Given the description of an element on the screen output the (x, y) to click on. 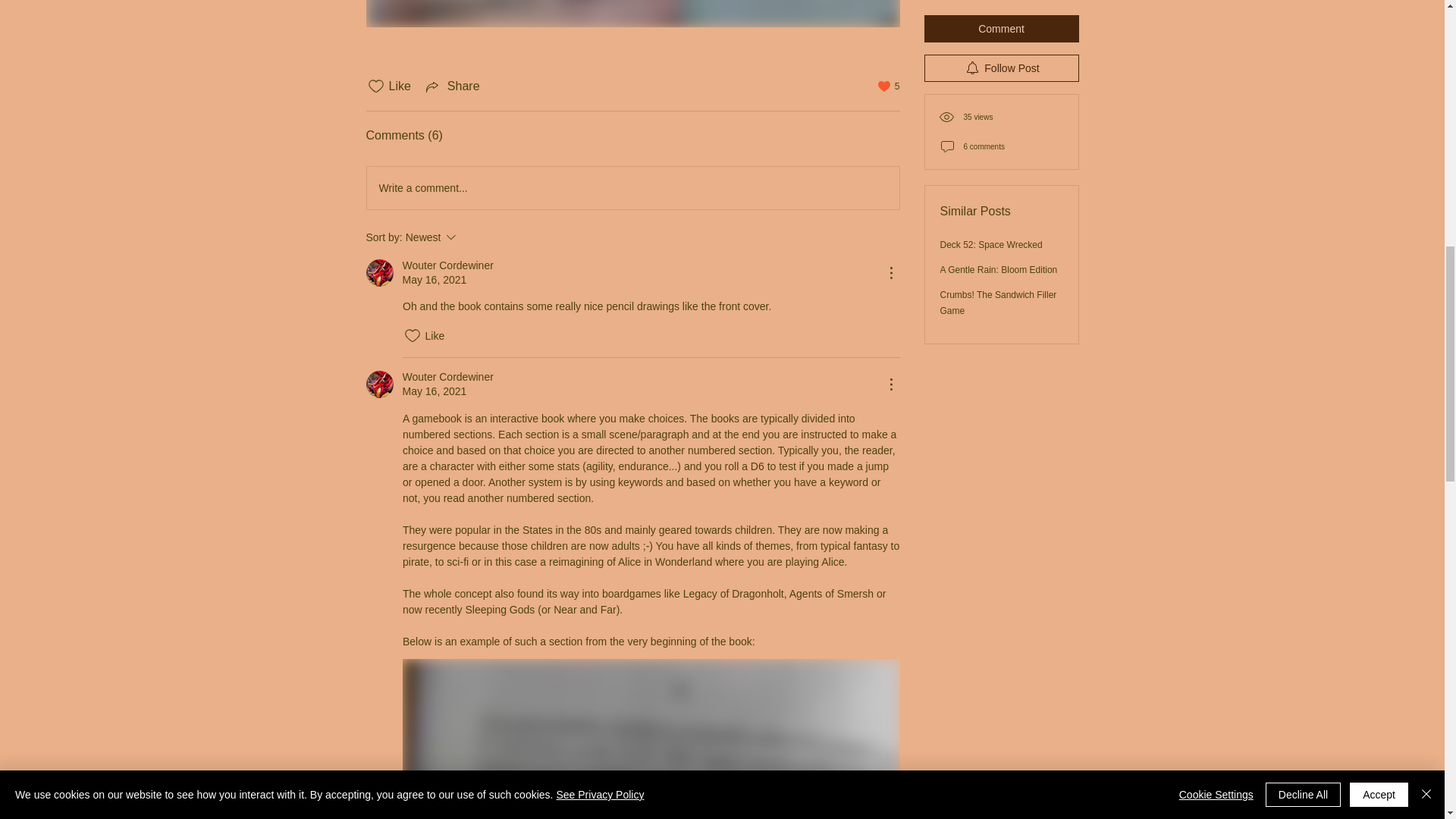
Wouter Cordewiner (379, 384)
Write a comment... (632, 188)
Share (451, 85)
5 (888, 86)
Wouter Cordewiner (471, 237)
Wouter Cordewiner (447, 265)
